Given the description of an element on the screen output the (x, y) to click on. 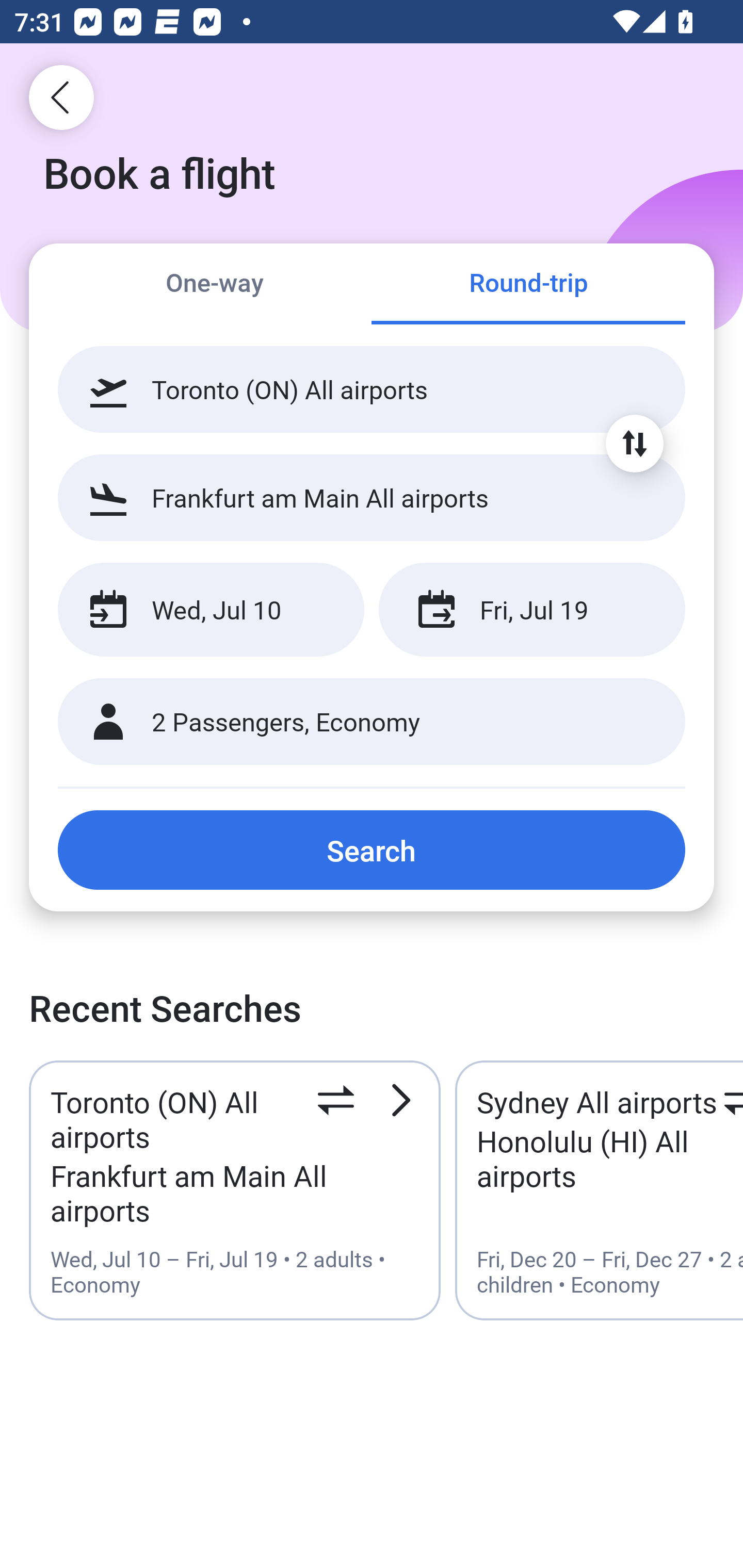
One-way (214, 284)
Toronto (ON) All airports (371, 389)
Frankfurt am Main All airports (371, 497)
Wed, Jul 10 (210, 609)
Fri, Jul 19 (531, 609)
2 Passengers, Economy (371, 721)
Search (371, 849)
